Given the description of an element on the screen output the (x, y) to click on. 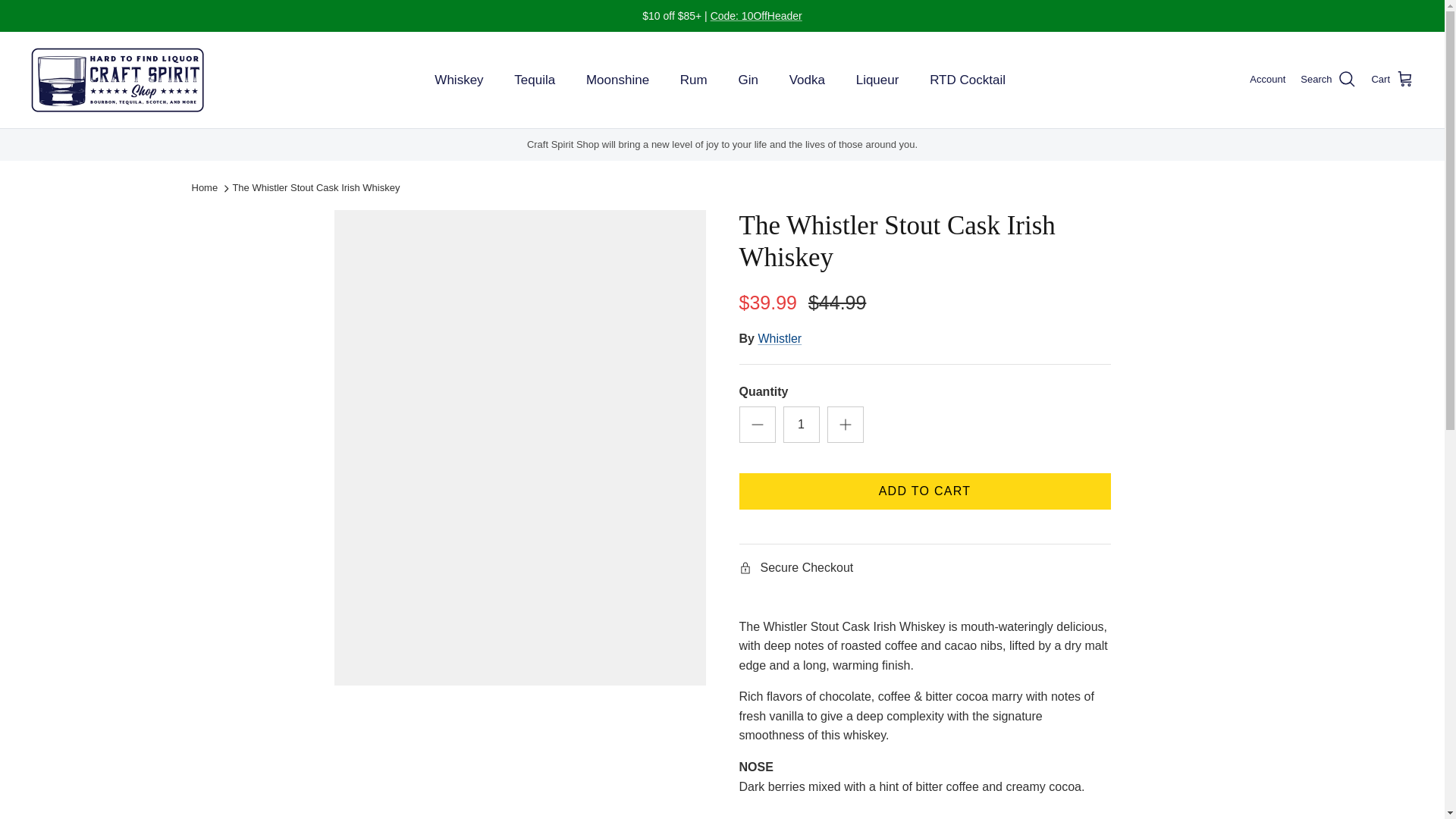
Rum (693, 80)
Moonshine (617, 80)
Search (1327, 79)
Tequila (534, 80)
Vodka (807, 80)
Account (1267, 79)
Liqueur (877, 80)
1 (800, 424)
Plus (844, 424)
Craft Spirit Shop (117, 79)
